Given the description of an element on the screen output the (x, y) to click on. 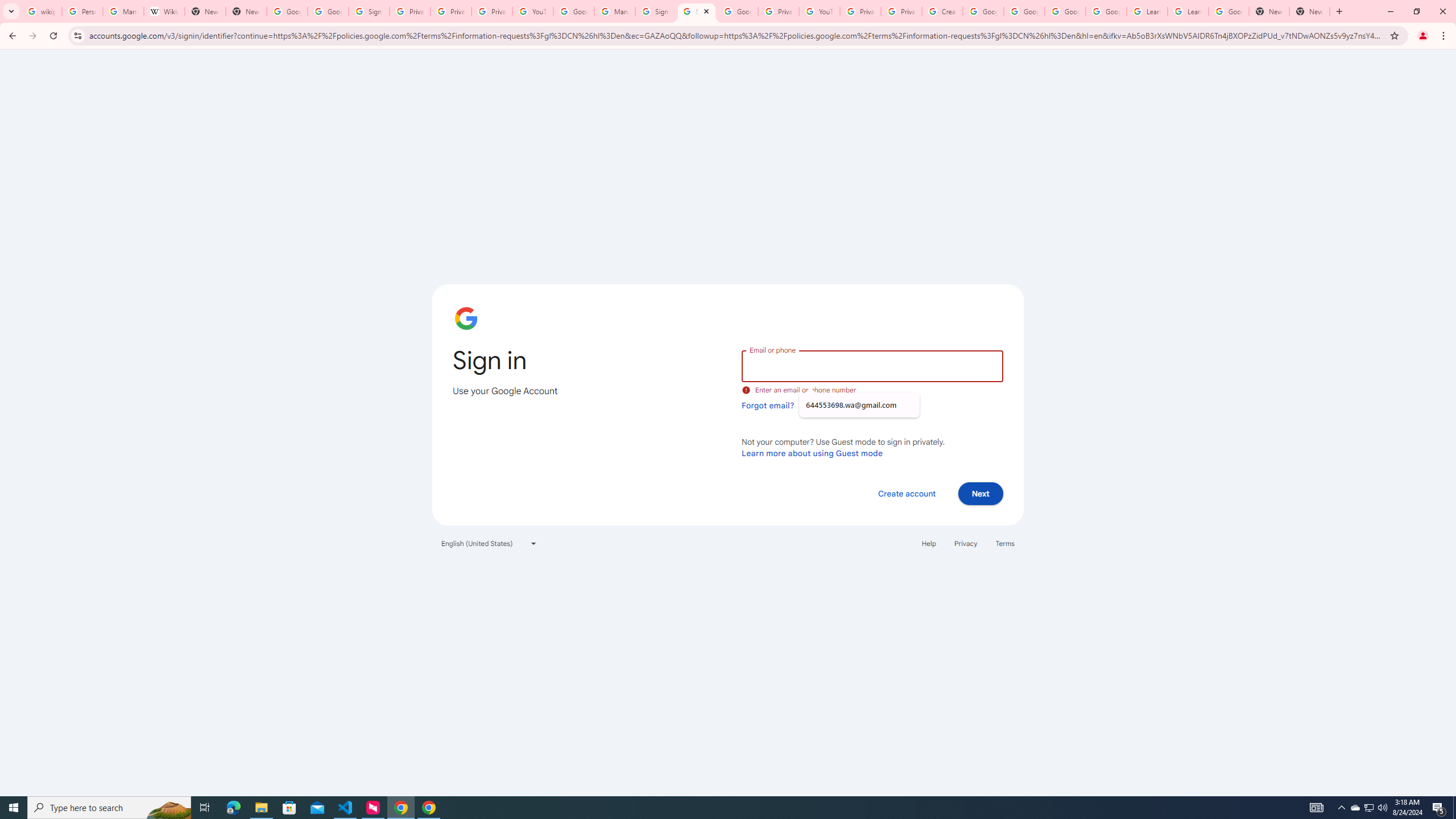
Sign in - Google Accounts (368, 11)
Forgot email? (767, 404)
Google Account Help (983, 11)
New Tab (246, 11)
English (United States) (489, 542)
Help (928, 542)
